Given the description of an element on the screen output the (x, y) to click on. 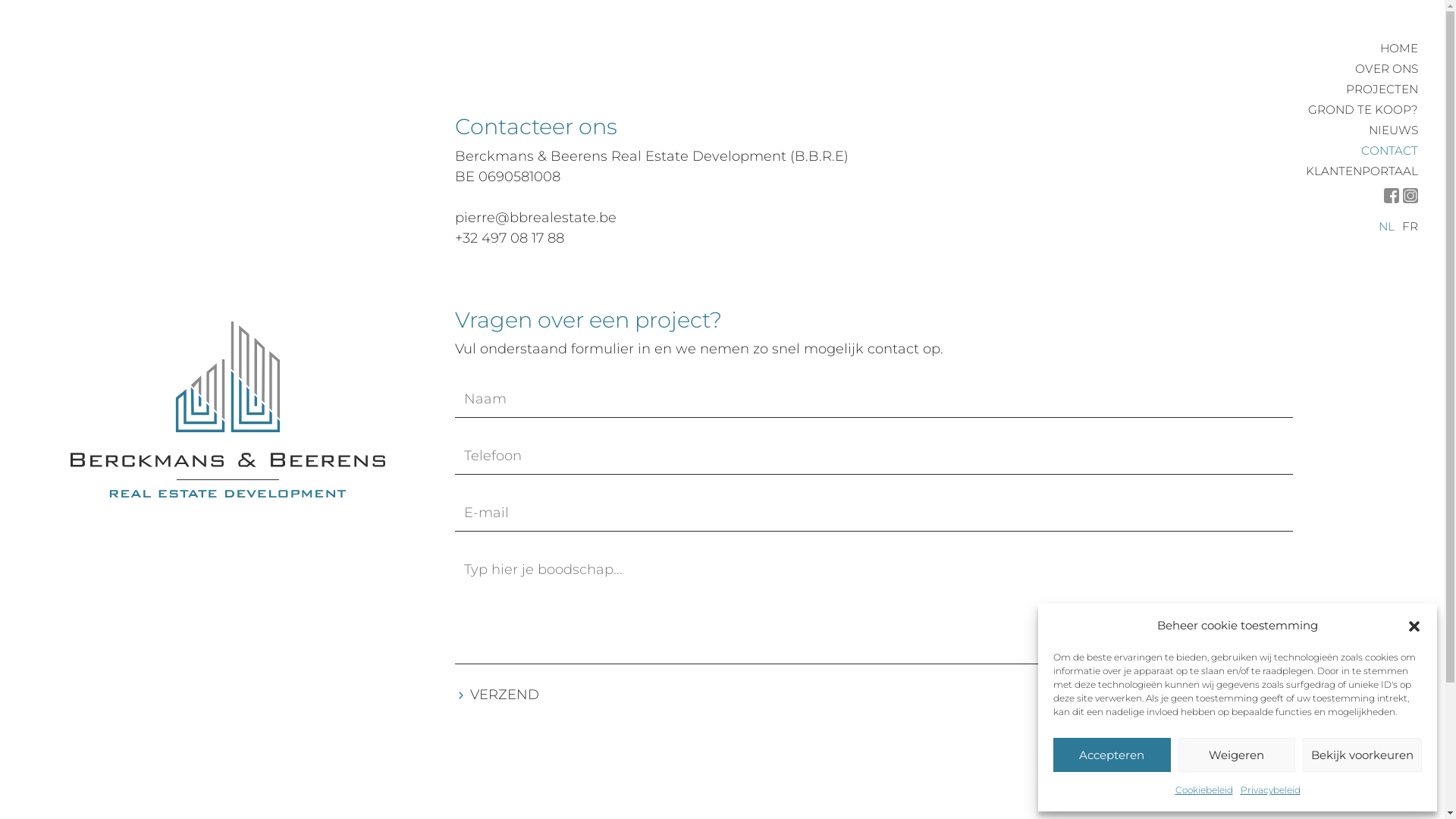
Verzend Element type: text (497, 694)
Cookiebeleid Element type: text (1204, 789)
OVER ONS Element type: text (1386, 68)
PROJECTEN Element type: text (1382, 88)
Bekijk voorkeuren Element type: text (1361, 754)
Weigeren Element type: text (1236, 754)
+32 497 08 17 88 Element type: text (509, 237)
NIEUWS Element type: text (1393, 129)
Accepteren Element type: text (1111, 754)
GROND TE KOOP? Element type: text (1363, 109)
CONTACT Element type: text (1389, 150)
pierre@bbrealestate.be Element type: text (535, 217)
KLANTENPORTAAL Element type: text (1361, 170)
FR Element type: text (1410, 226)
HOME Element type: text (1399, 47)
NL Element type: text (1386, 226)
Privacybeleid Element type: text (1270, 789)
